Given the description of an element on the screen output the (x, y) to click on. 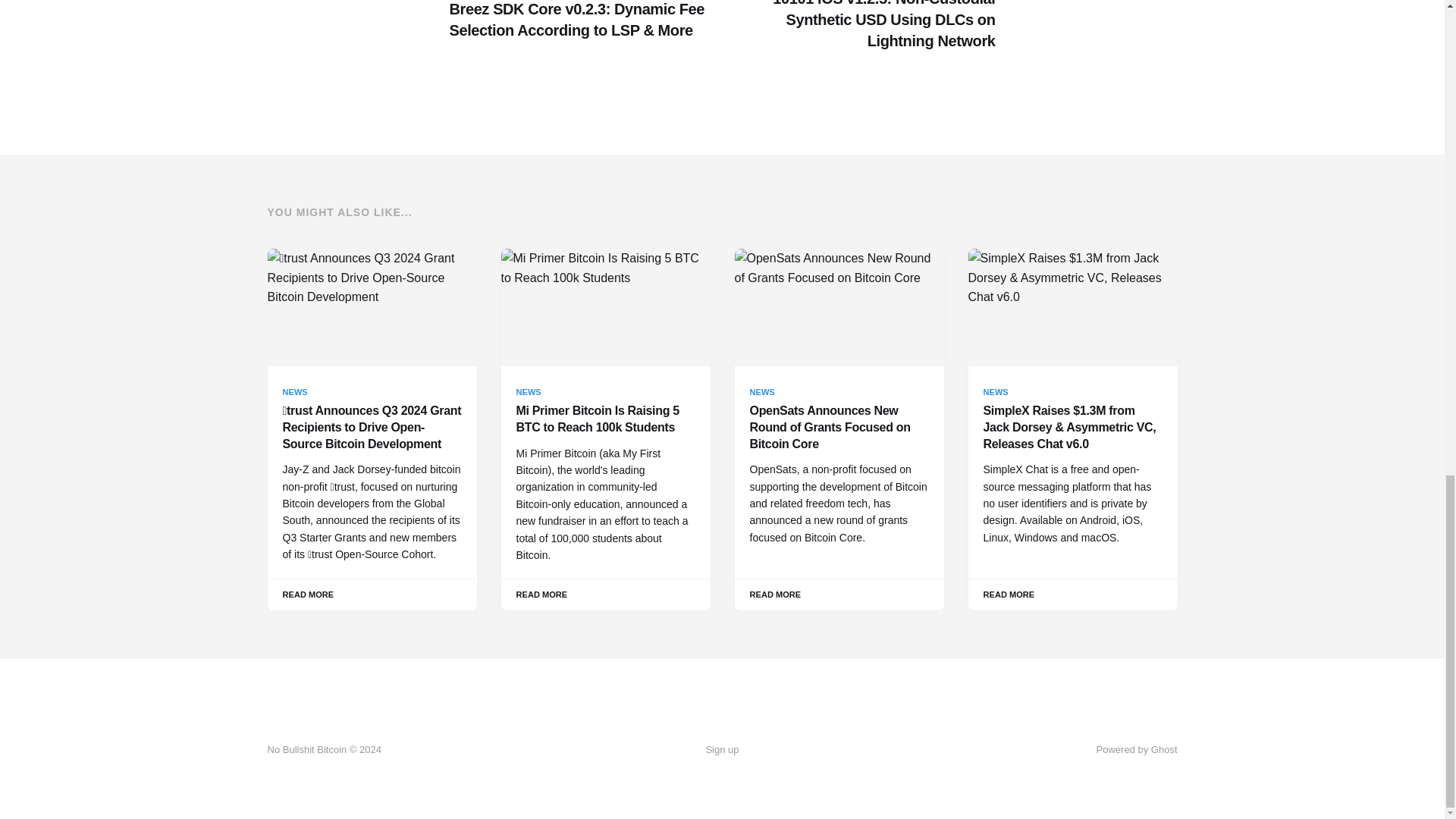
Sign up (721, 750)
Powered by Ghost (1136, 749)
